Given the description of an element on the screen output the (x, y) to click on. 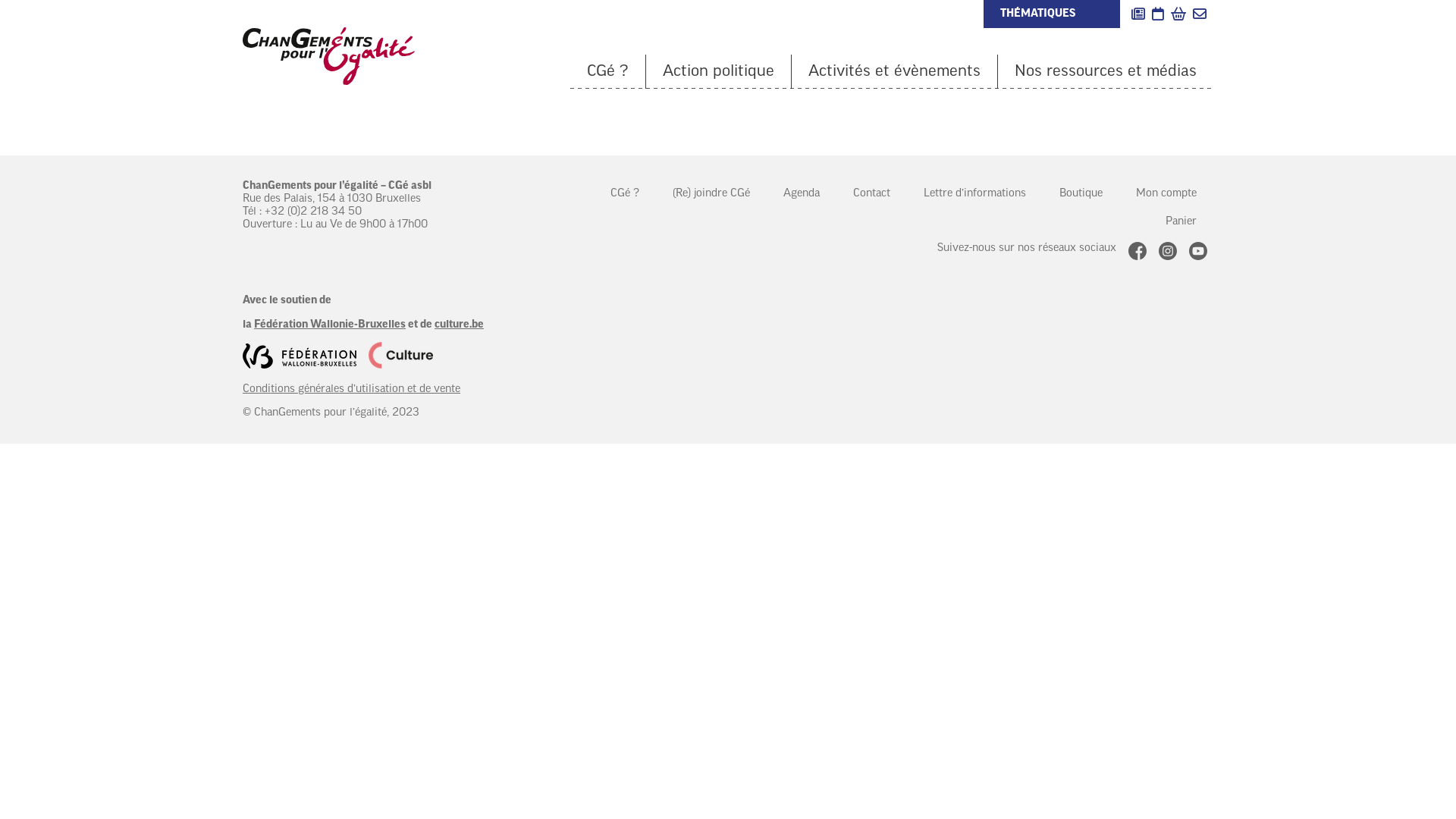
Instagram Element type: hover (1167, 250)
Facebook Element type: hover (1137, 250)
Action politique Element type: text (718, 71)
Mon compte Element type: text (1166, 193)
culture.be Element type: text (458, 324)
Youtube Element type: hover (1198, 250)
Panier Element type: text (1180, 221)
Contact Element type: text (871, 193)
Boutique Element type: text (1080, 193)
Agenda Element type: text (801, 193)
